Given the description of an element on the screen output the (x, y) to click on. 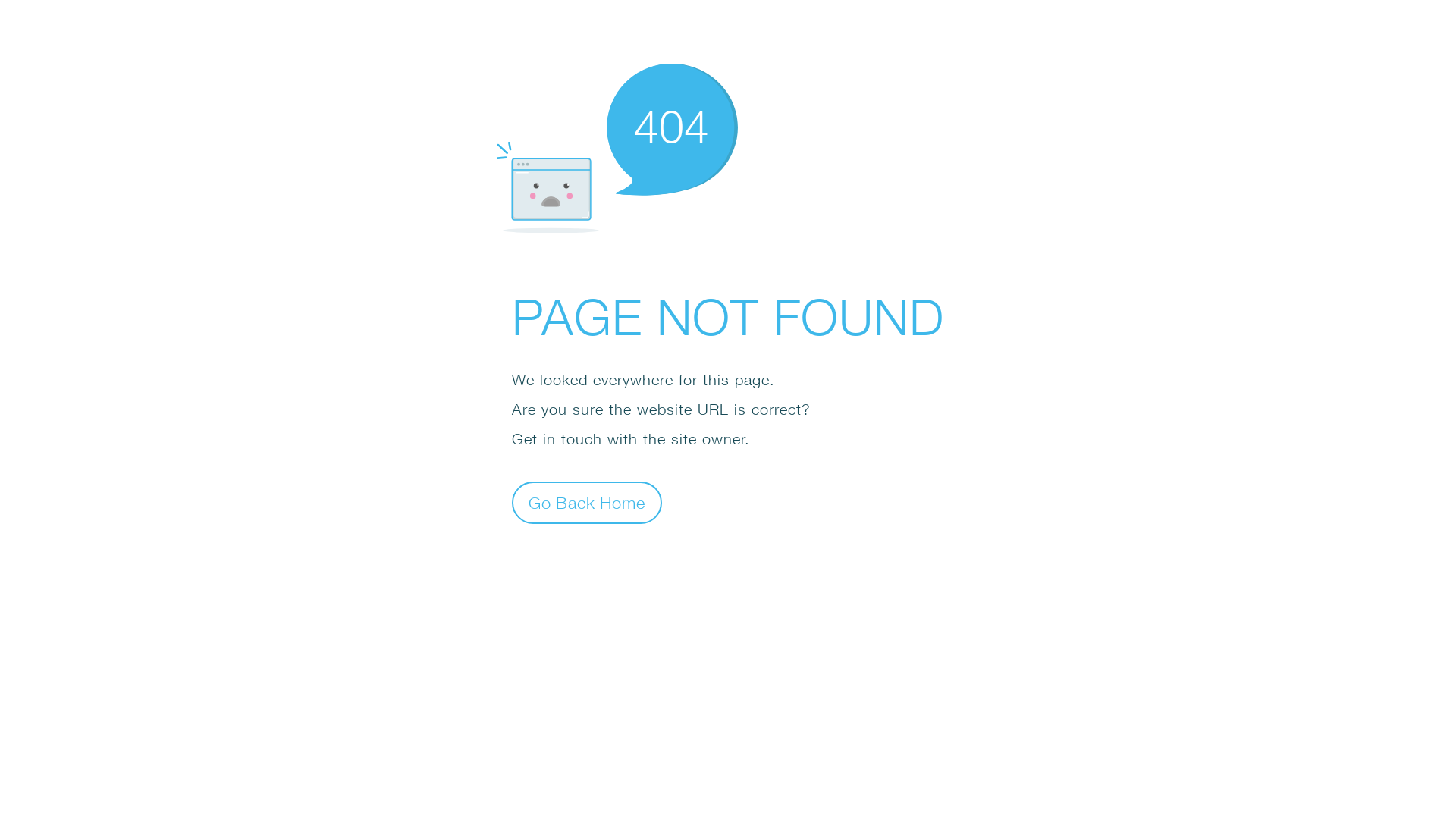
Go Back Home Element type: text (586, 502)
